Given the description of an element on the screen output the (x, y) to click on. 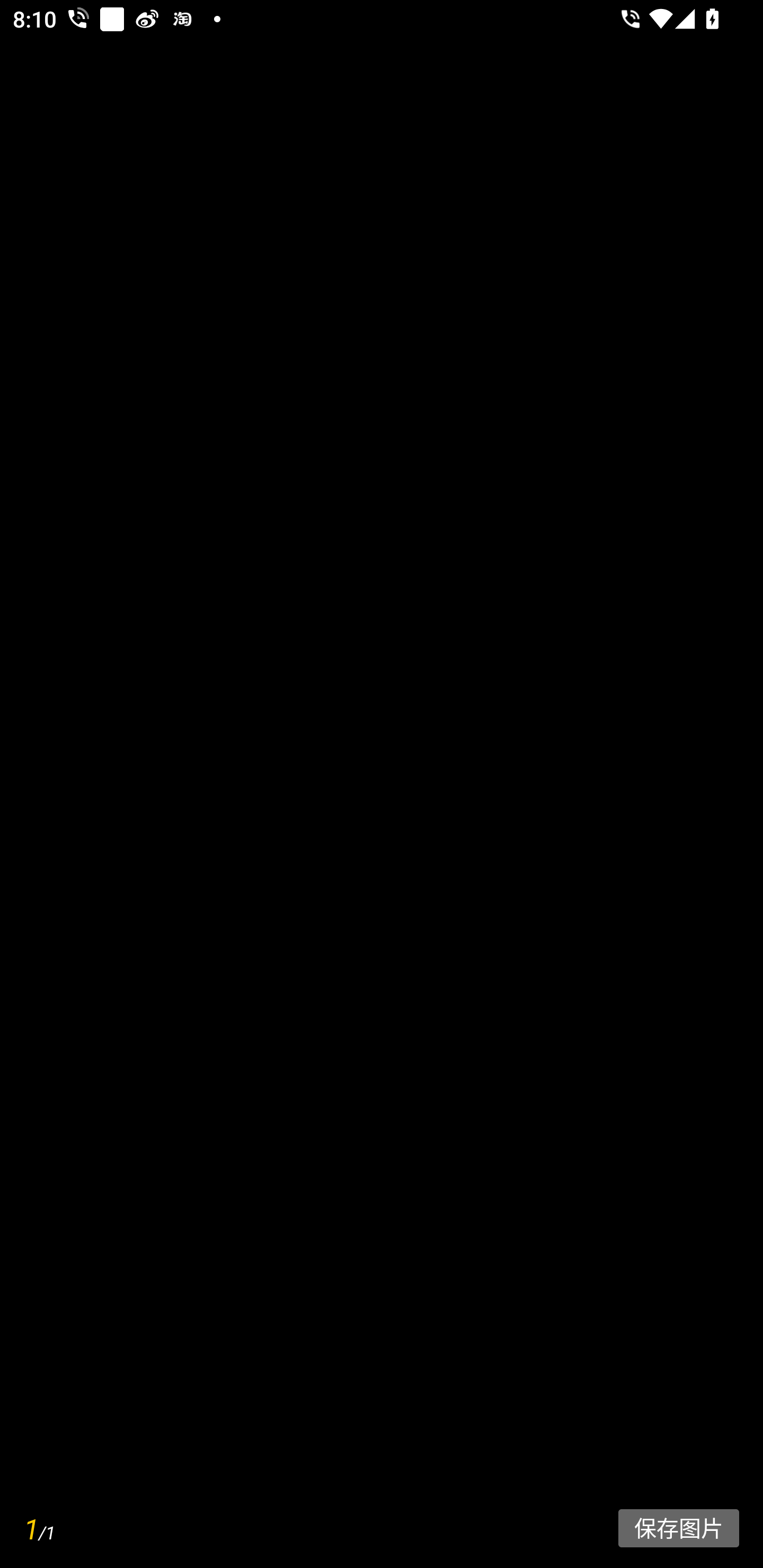
保存图片 (678, 1527)
